Given the description of an element on the screen output the (x, y) to click on. 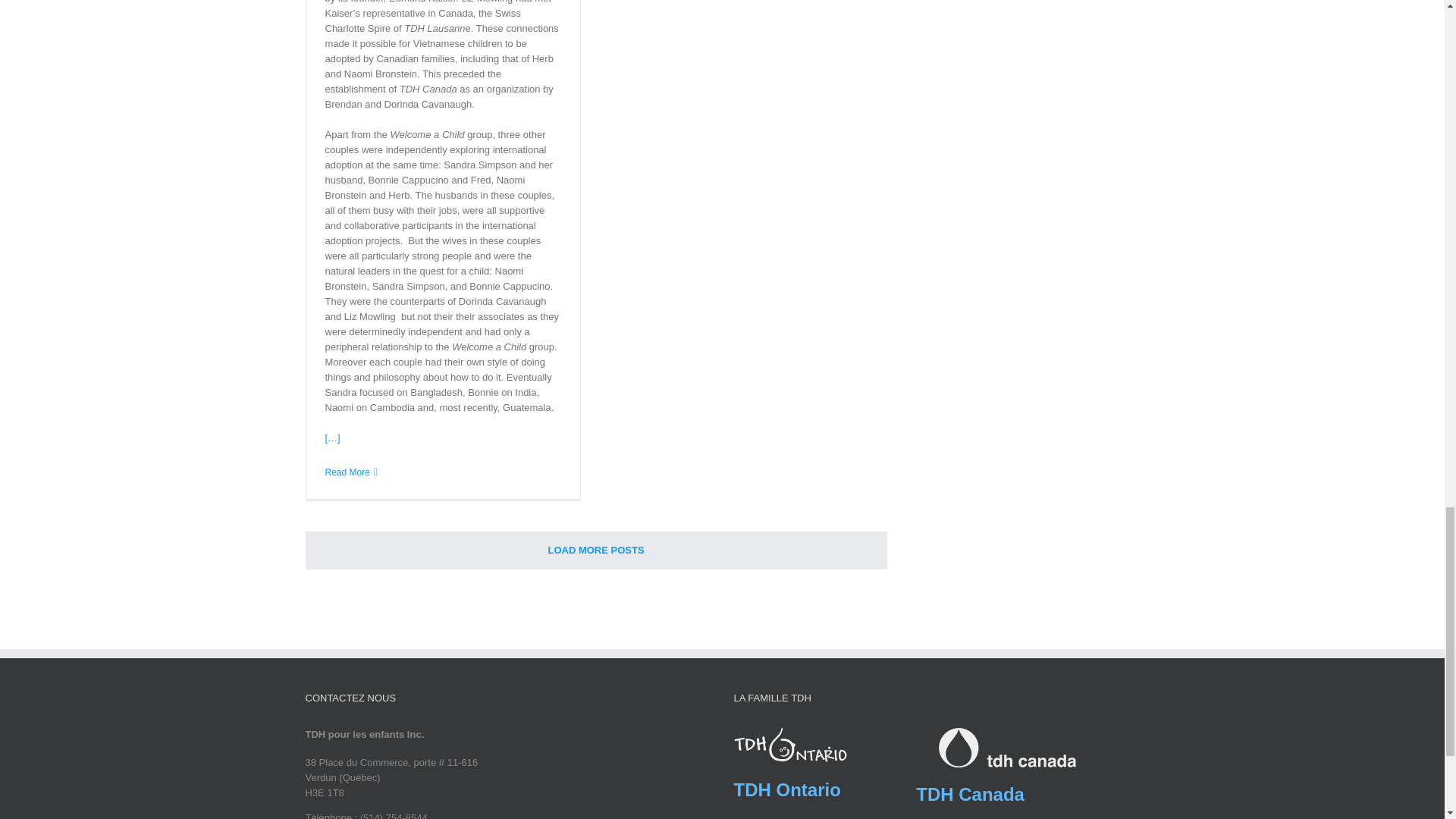
Read More (346, 471)
TDH Canada (970, 793)
TDH Ontario (787, 789)
